Given the description of an element on the screen output the (x, y) to click on. 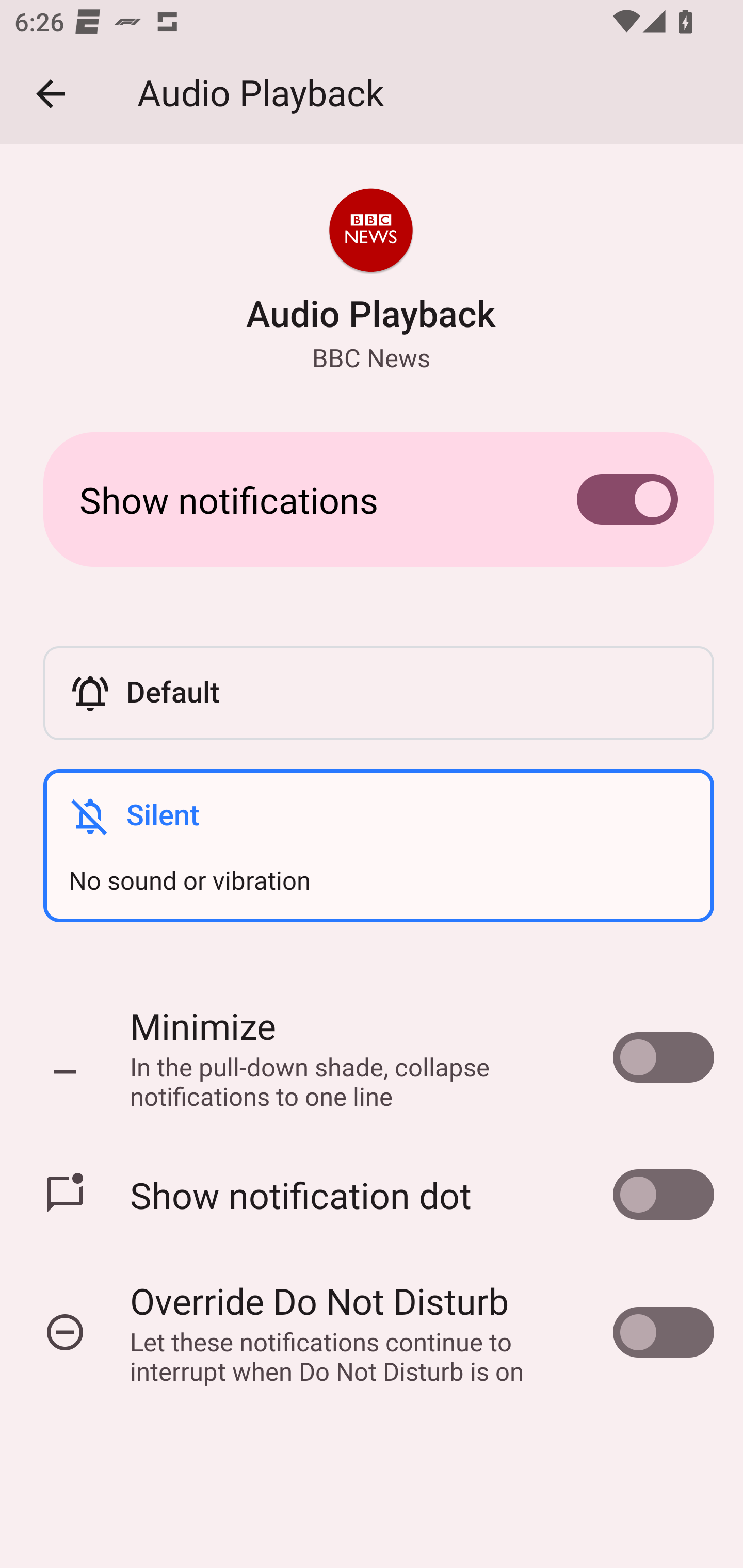
Navigate up (50, 93)
Audio Playback BBC News (370, 281)
Show notifications (371, 498)
Default (378, 693)
Silent No sound or vibration (378, 844)
Show notification dot (371, 1194)
